Given the description of an element on the screen output the (x, y) to click on. 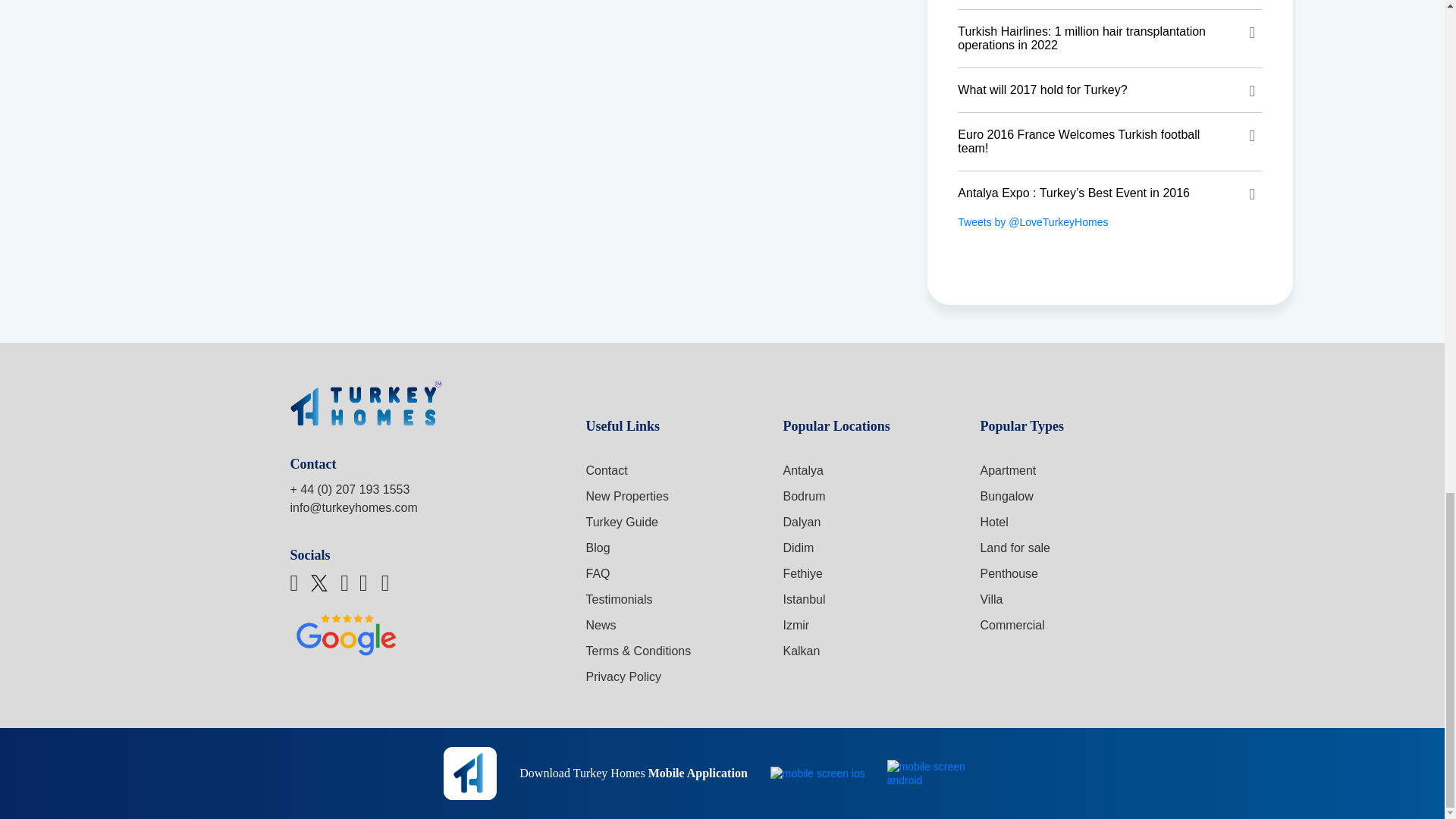
euro-2016-france-welcomes-turkish-football-team (1110, 141)
the-tourism-industry-fights-for-turkey (1110, 4)
turkey-in-2017 (1110, 89)
antalya-expo-turkey-s-best-event-in-2016 (1110, 193)
